Given the description of an element on the screen output the (x, y) to click on. 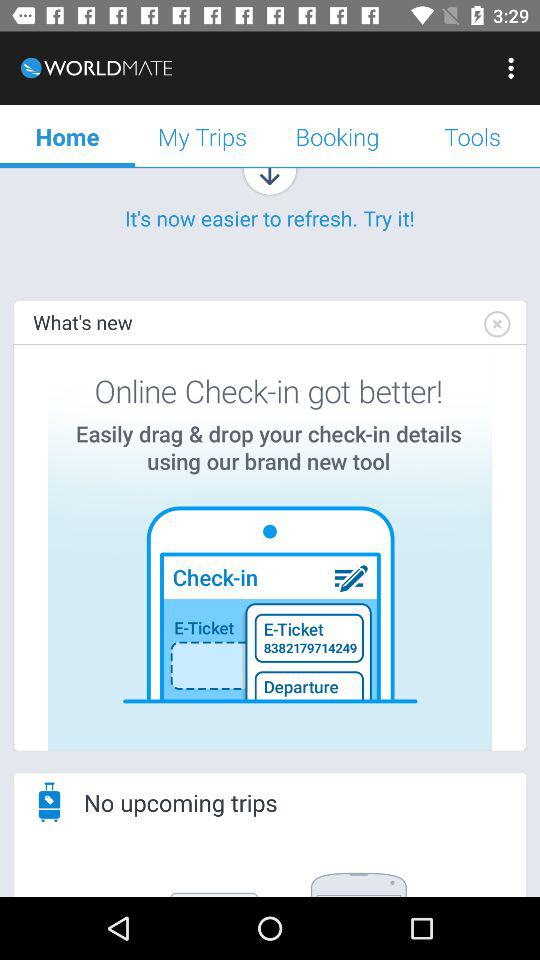
open app to the left of my trips app (67, 136)
